Given the description of an element on the screen output the (x, y) to click on. 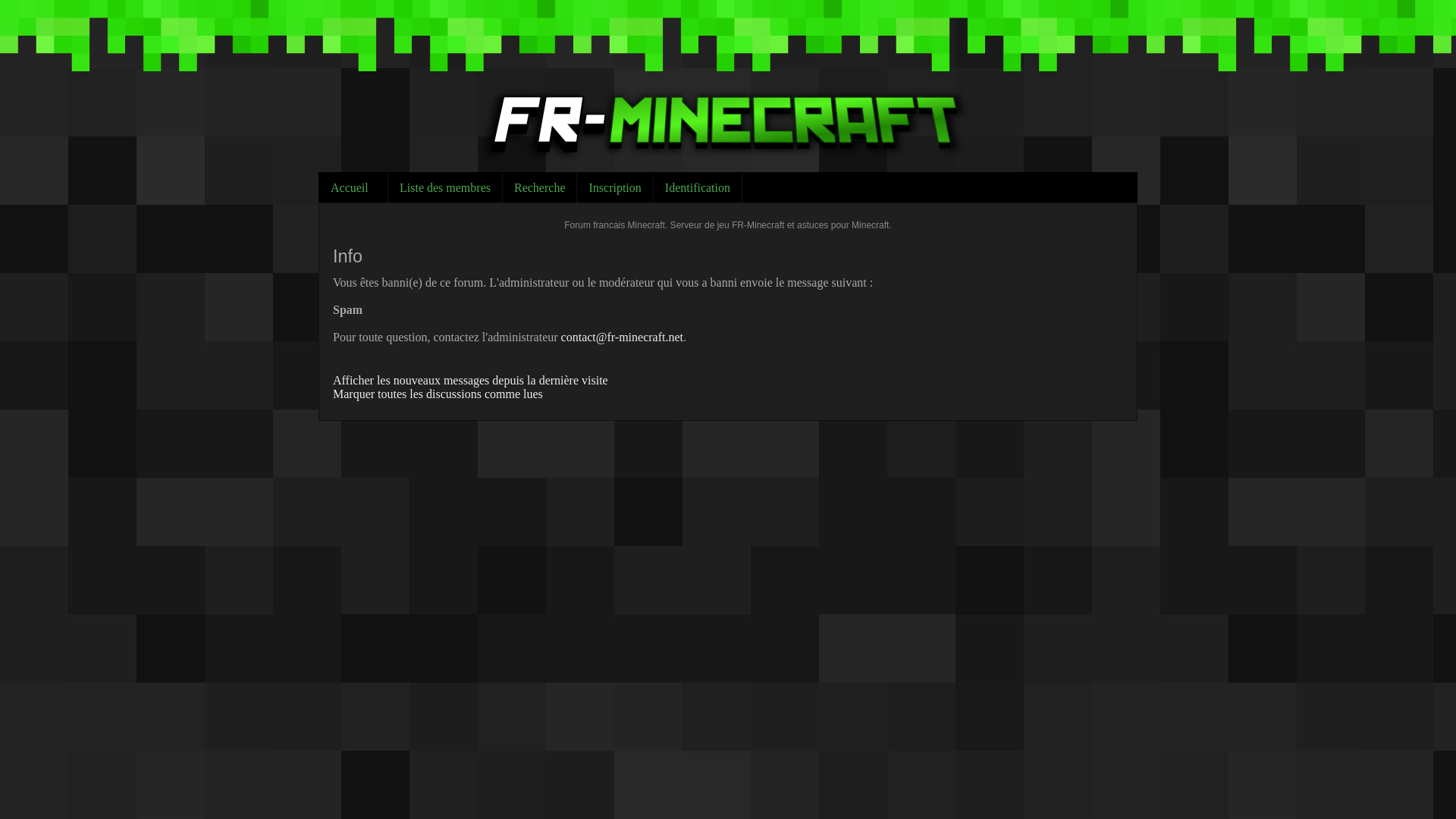
Inscription (614, 187)
Accueil (353, 187)
Identification (697, 187)
Liste des membres (445, 187)
Recherche (540, 187)
